Given the description of an element on the screen output the (x, y) to click on. 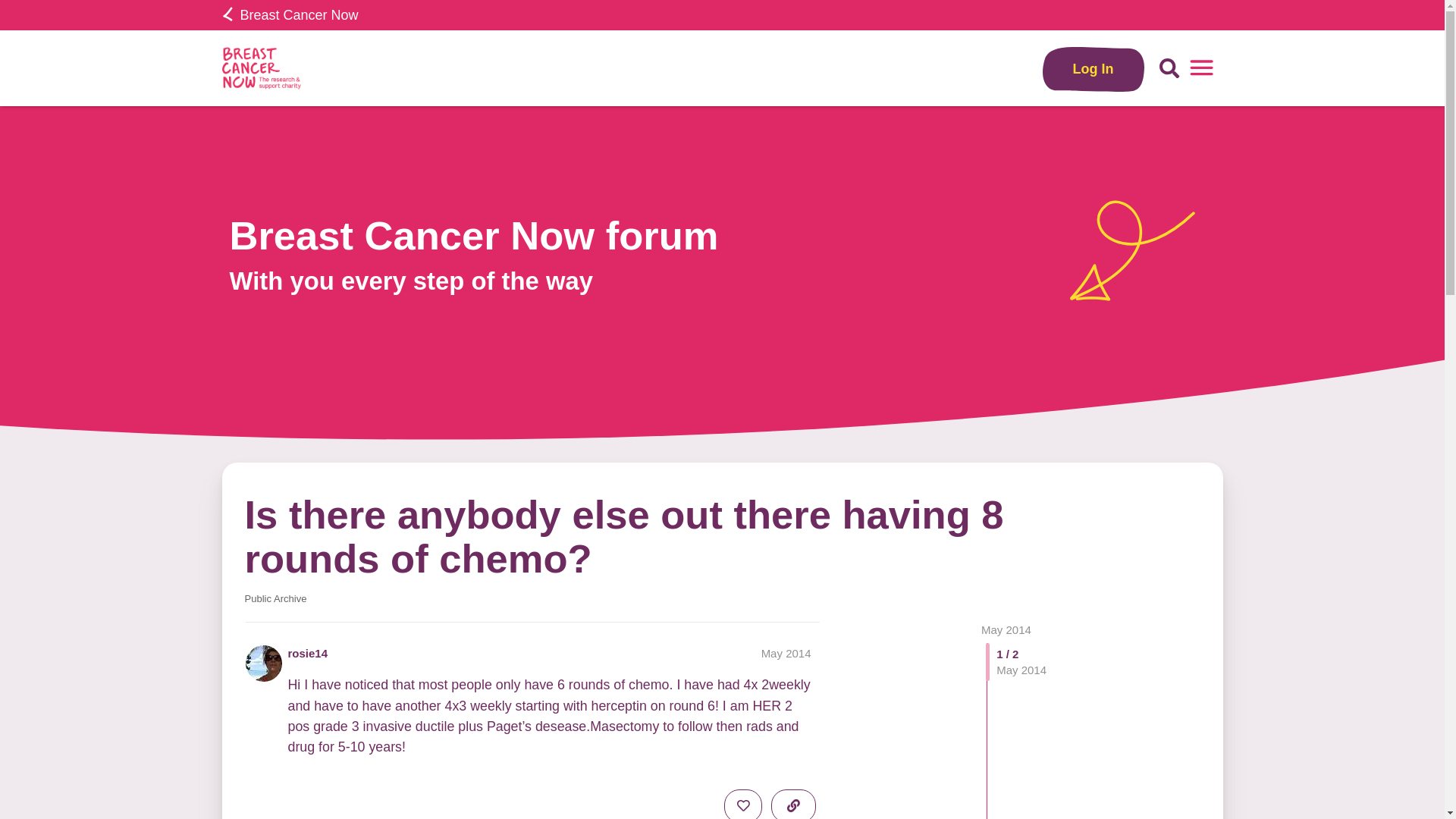
Search (1169, 68)
Post date (785, 653)
Archived posts which are available to view. (274, 599)
May 2014 (785, 653)
like this post (742, 804)
Log In (1093, 68)
Public Archive (274, 599)
menu (1201, 67)
Is there anybody else out there having 8 rounds of chemo? (623, 536)
copy a link to this post to clipboard (793, 804)
May 2014 (1005, 629)
May 2014 (1005, 629)
rosie14 (308, 652)
Breast Cancer Now (289, 15)
